Given the description of an element on the screen output the (x, y) to click on. 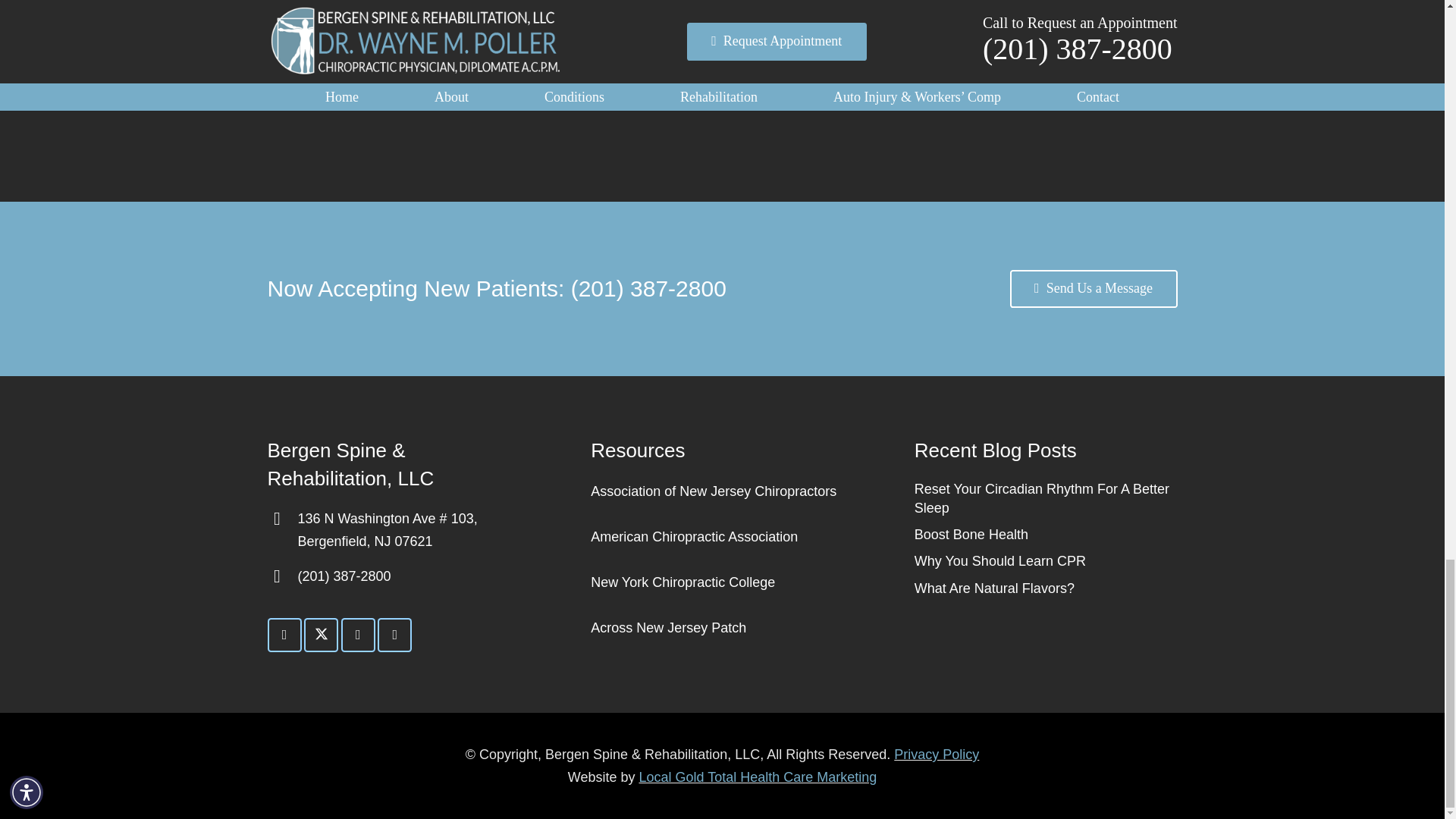
Why You Should Learn CPR (1000, 560)
YouTube (394, 634)
New York Chiropractic College (682, 581)
American Chiropractic Association (694, 536)
Reset Your Circadian Rhythm For A Better Sleep (1041, 498)
Across New Jersey Patch (668, 627)
Boost Bone Health (970, 534)
Facebook (283, 634)
Association of New Jersey Chiropractors (713, 491)
Send Us a Message (1093, 288)
Google (357, 634)
Twitter (320, 634)
